Given the description of an element on the screen output the (x, y) to click on. 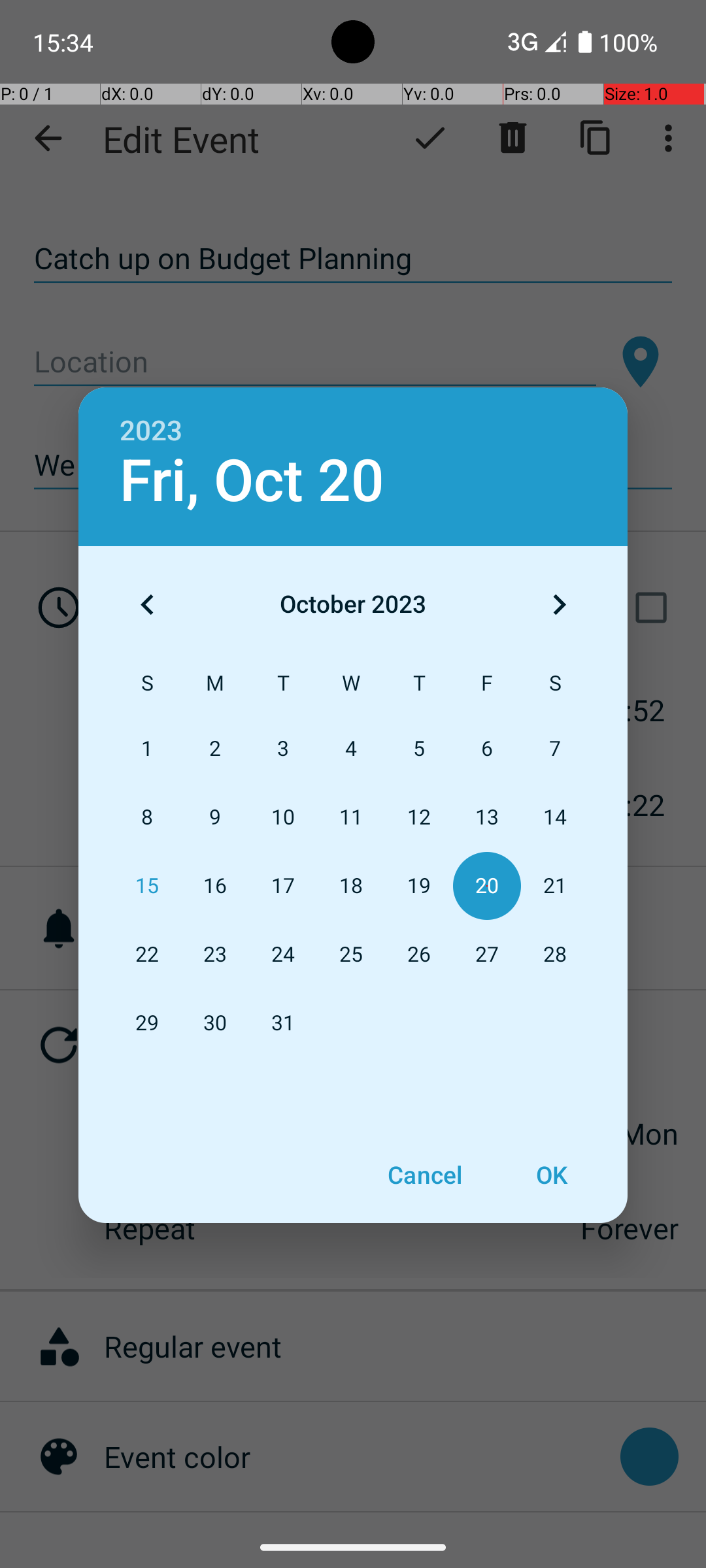
Fri, Oct 20 Element type: android.widget.TextView (251, 480)
